Given the description of an element on the screen output the (x, y) to click on. 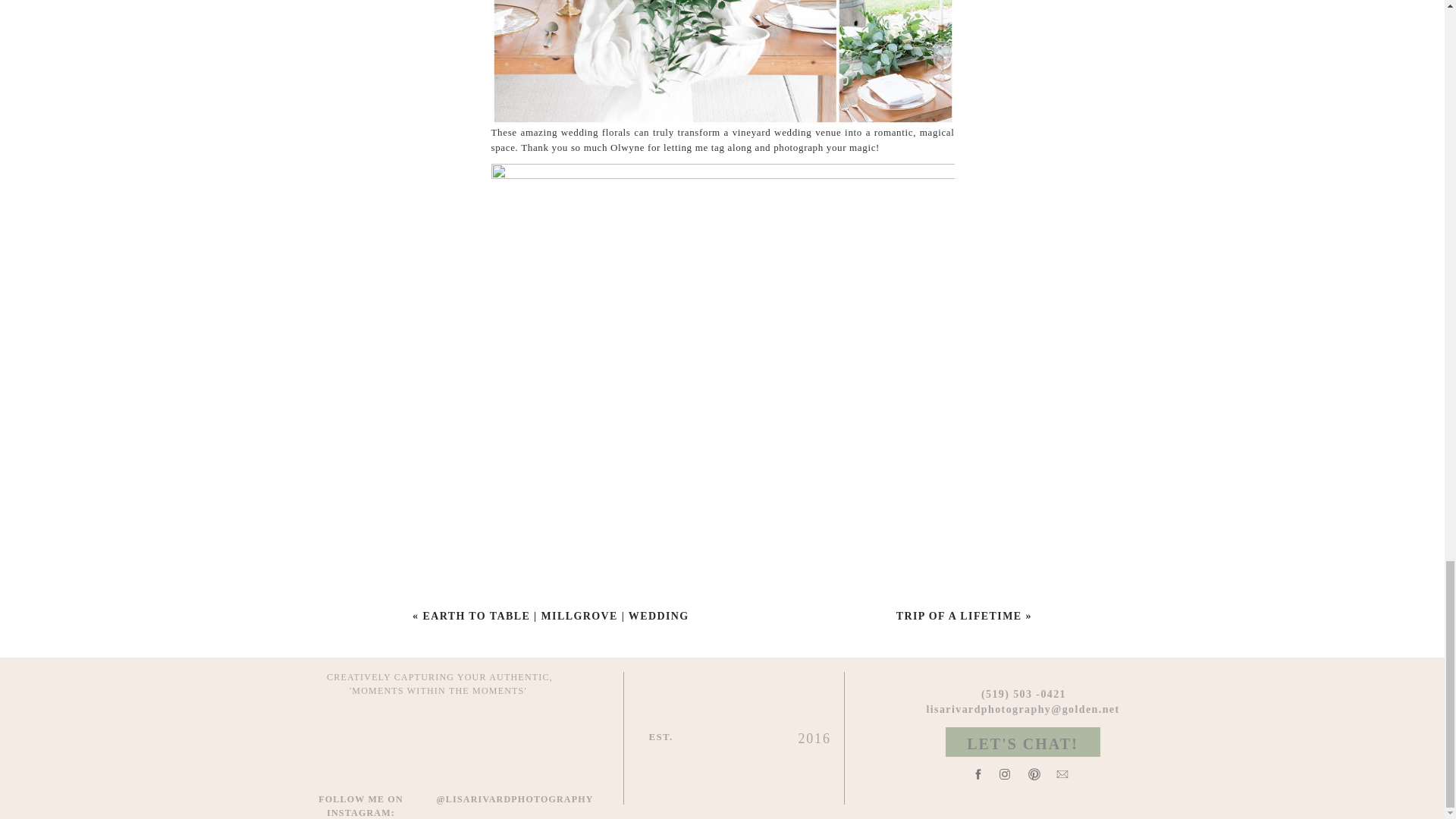
LET'S CHAT! (1023, 741)
TRIP OF A LIFETIME (959, 615)
